Given the description of an element on the screen output the (x, y) to click on. 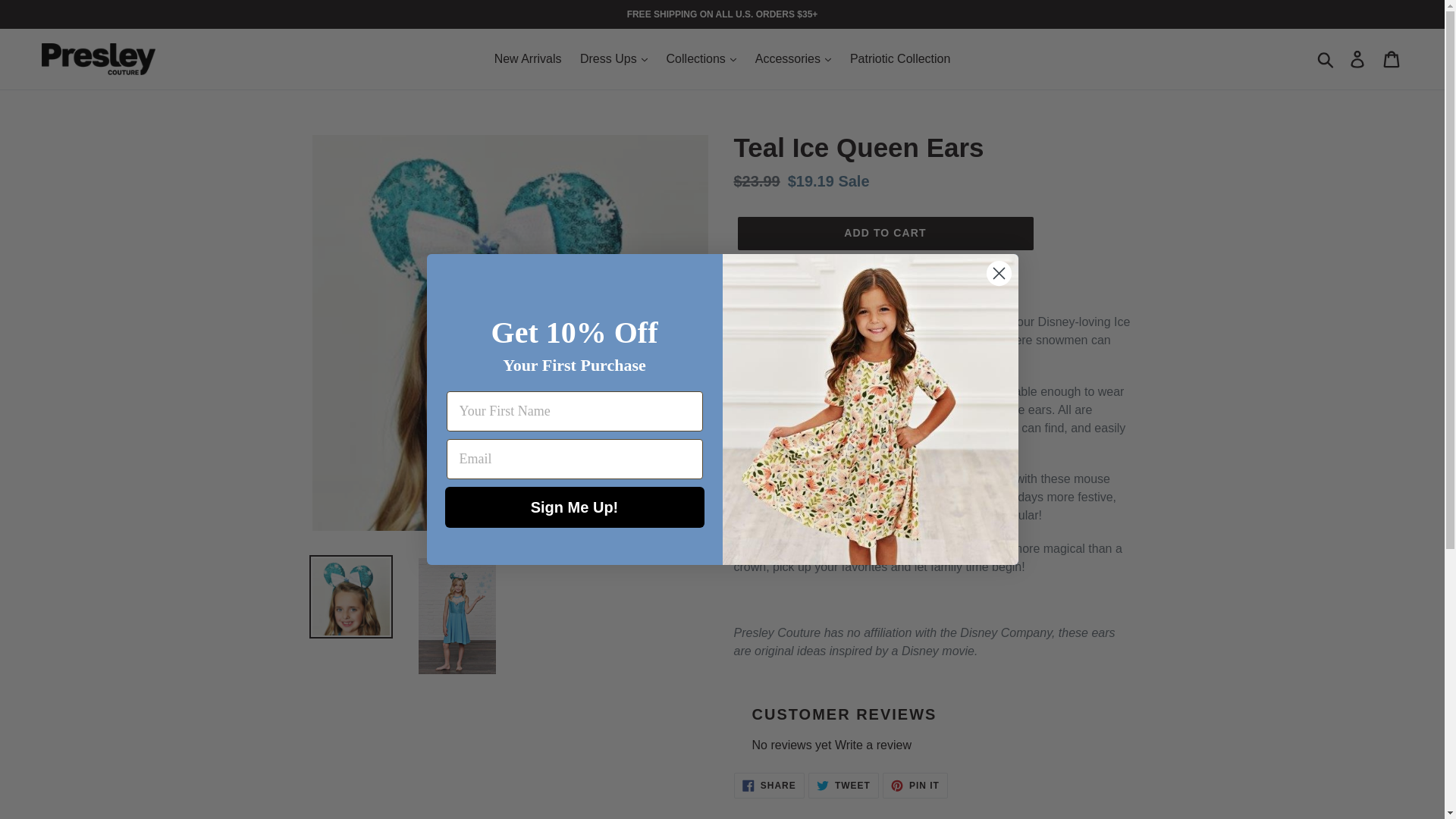
New Arrivals (527, 58)
